Given the description of an element on the screen output the (x, y) to click on. 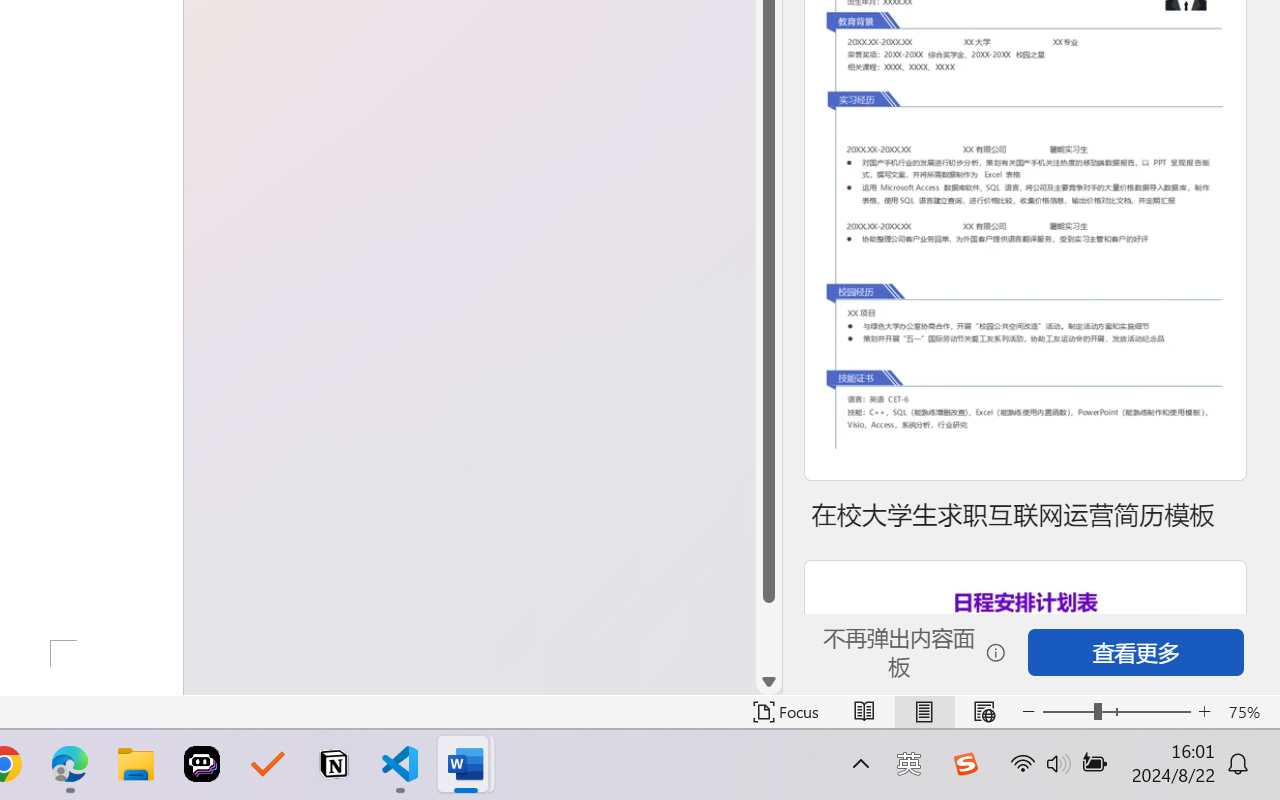
Zoom Out (1067, 712)
Zoom (1116, 712)
Focus  (786, 712)
Read Mode (864, 712)
Zoom In (1204, 712)
Page down (769, 635)
Line down (769, 681)
Web Layout (984, 712)
Class: Image (965, 764)
Print Layout (924, 712)
